Given the description of an element on the screen output the (x, y) to click on. 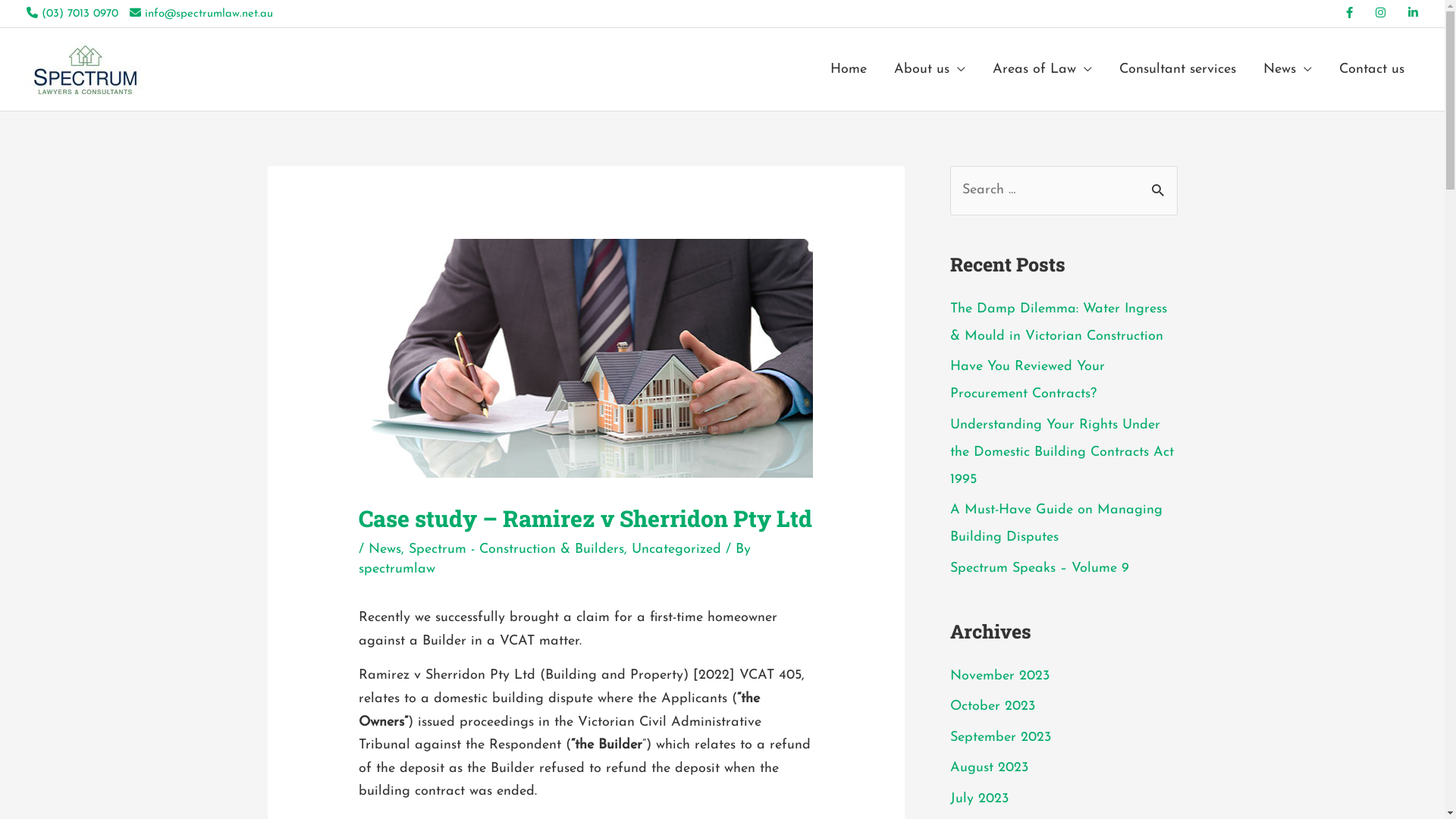
spectrumlaw Element type: text (396, 568)
October 2023 Element type: text (991, 706)
Home Element type: text (848, 69)
About us Element type: text (929, 69)
November 2023 Element type: text (998, 675)
info@spectrumlaw.net.au Element type: text (201, 13)
Have You Reviewed Your Procurement Contracts? Element type: text (1026, 380)
Search Element type: text (1160, 182)
Spectrum - Construction & Builders Element type: text (516, 549)
September 2023 Element type: text (999, 737)
July 2023 Element type: text (978, 798)
August 2023 Element type: text (988, 767)
Consultant services Element type: text (1177, 69)
Uncategorized Element type: text (676, 549)
Contact us Element type: text (1371, 69)
News Element type: text (1287, 69)
(03) 7013 0970 Element type: text (72, 13)
Areas of Law Element type: text (1042, 69)
News Element type: text (384, 549)
A Must-Have Guide on Managing Building Disputes Element type: text (1055, 523)
